Given the description of an element on the screen output the (x, y) to click on. 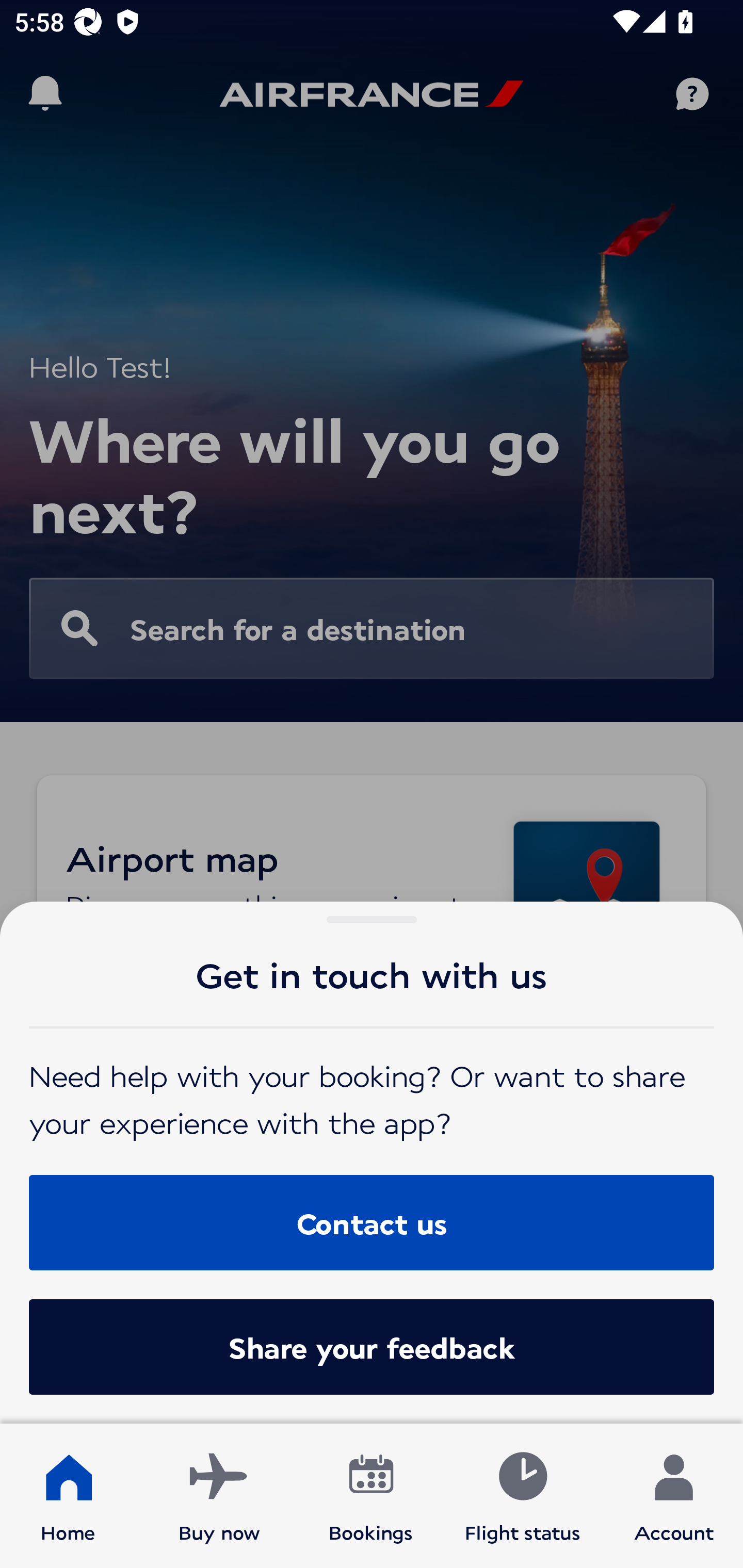
Contact us (371, 1222)
Share your feedback (371, 1346)
Buy now (219, 1495)
Bookings (370, 1495)
Flight status (522, 1495)
Account (674, 1495)
